Given the description of an element on the screen output the (x, y) to click on. 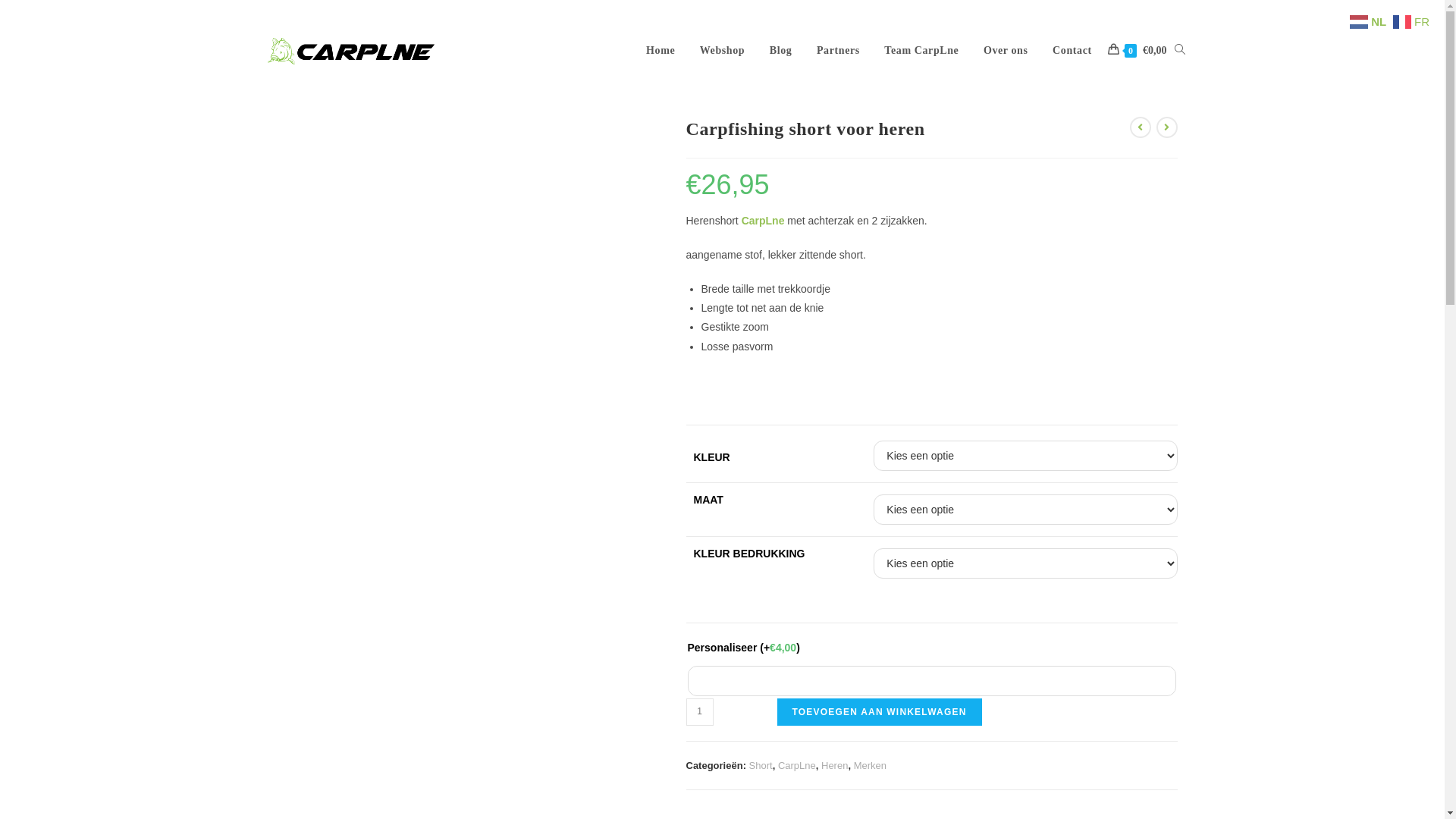
Heren Element type: text (834, 765)
Merken Element type: text (869, 765)
CarpLne Element type: text (762, 220)
TOEVOEGEN AAN WINKELWAGEN Element type: text (878, 711)
Contact Element type: text (1072, 50)
Short Element type: text (760, 765)
Webshop Element type: text (721, 50)
Team CarpLne Element type: text (921, 50)
Home Element type: text (660, 50)
Blog Element type: text (779, 50)
CarpLne Element type: text (796, 765)
FR Element type: text (1413, 20)
Over ons Element type: text (1005, 50)
NL Element type: text (1369, 20)
Partners Element type: text (838, 50)
logo Element type: hover (349, 50)
